Given the description of an element on the screen output the (x, y) to click on. 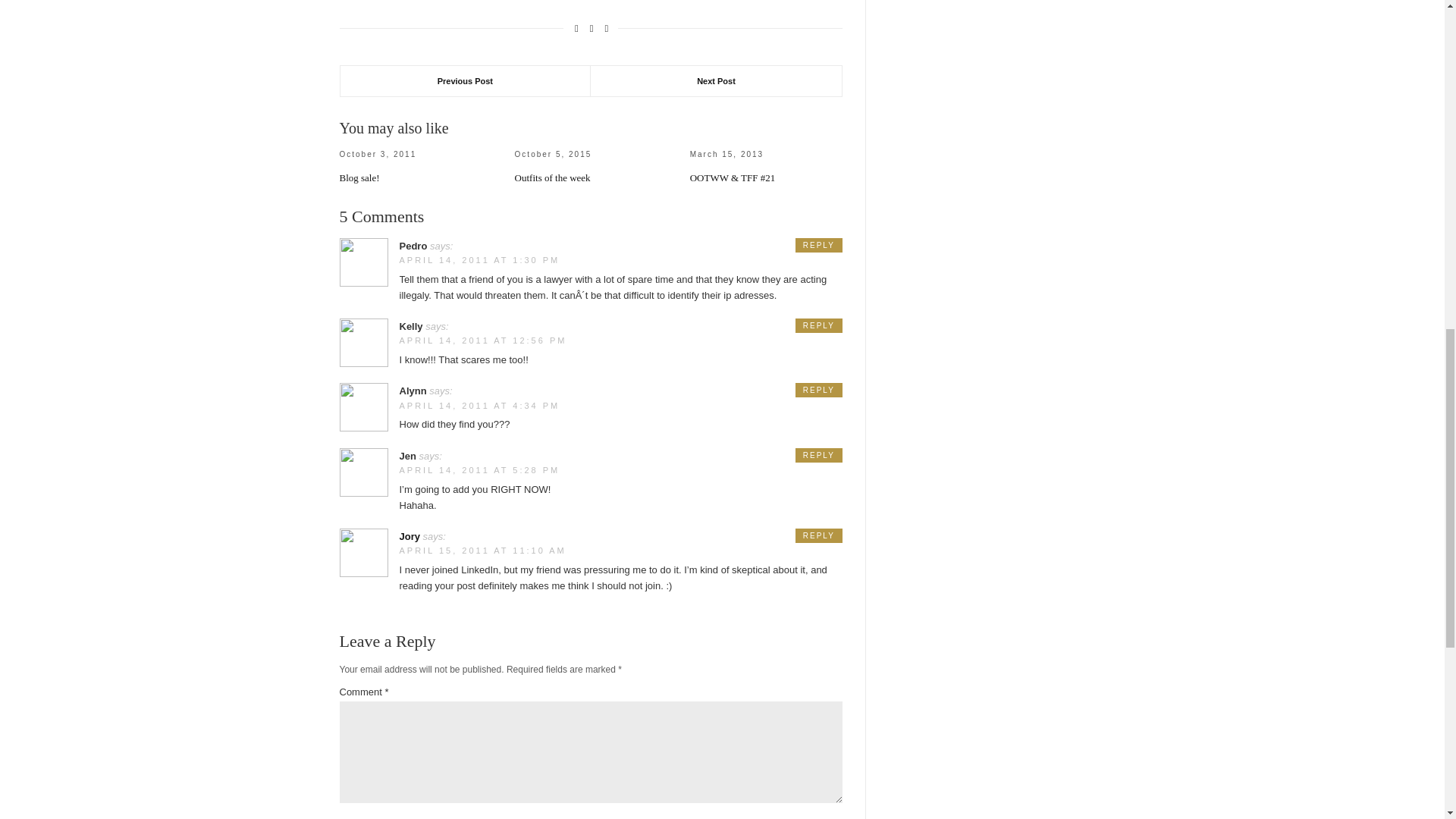
Blog sale! (359, 177)
APRIL 14, 2011 AT 12:56 PM (482, 339)
Outfits of the week (553, 177)
REPLY (818, 390)
APRIL 14, 2011 AT 4:34 PM (478, 405)
Next Post (716, 81)
APRIL 14, 2011 AT 5:28 PM (478, 470)
Previous Post (465, 81)
REPLY (818, 245)
APRIL 14, 2011 AT 1:30 PM (478, 259)
